Given the description of an element on the screen output the (x, y) to click on. 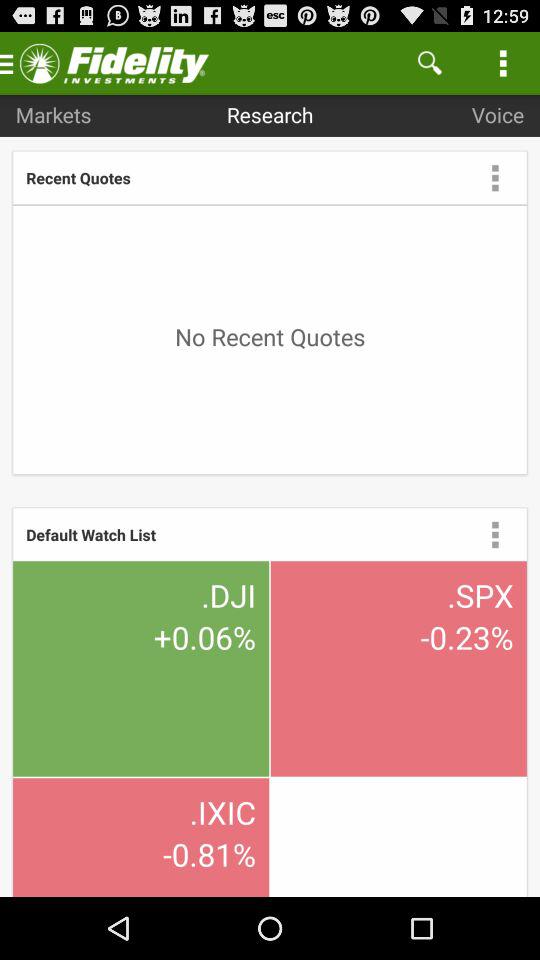
tap voice icon (497, 114)
